Given the description of an element on the screen output the (x, y) to click on. 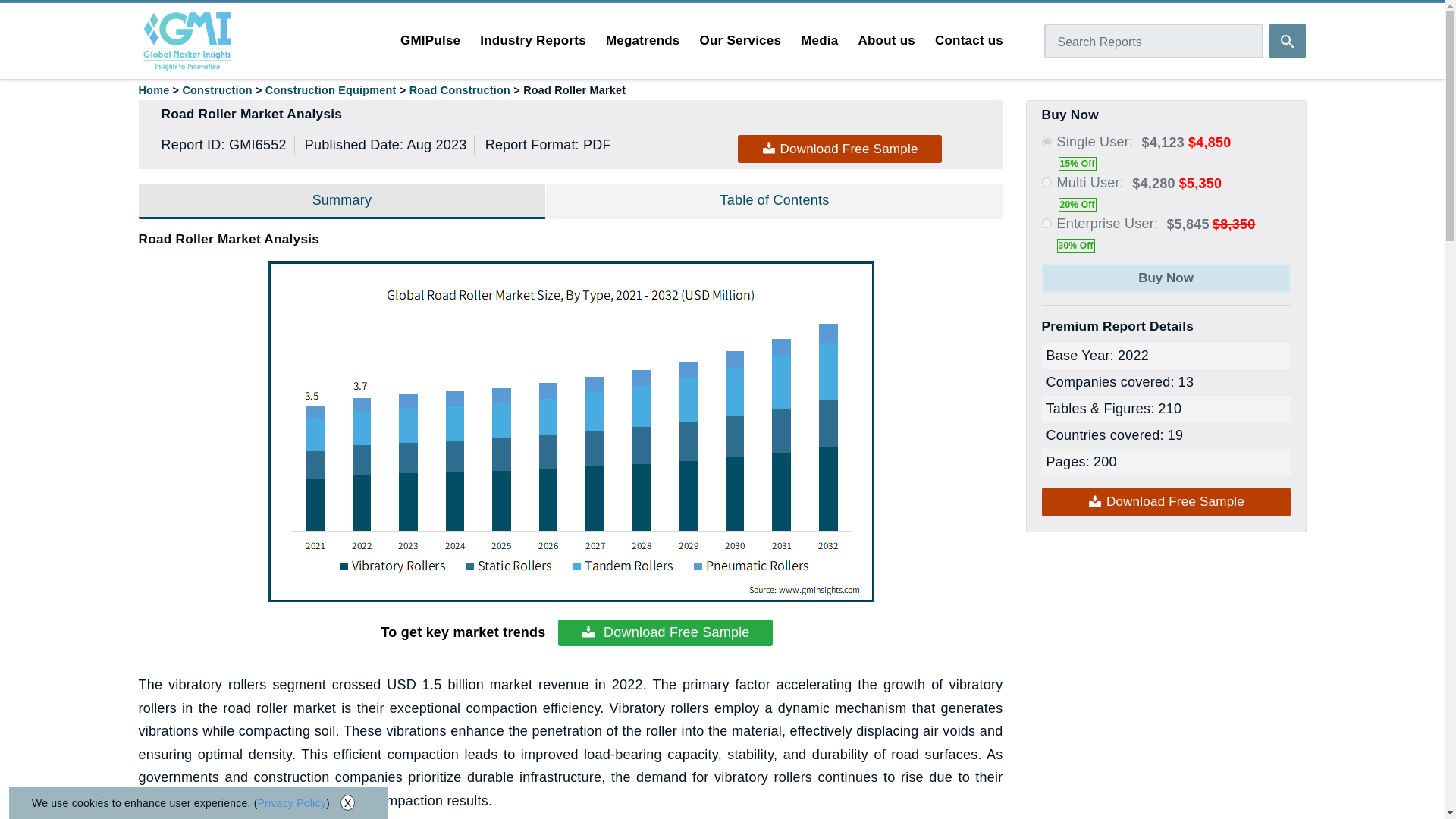
sugmp (1046, 141)
Logo (187, 40)
mugmp (1046, 182)
eugmp (1046, 223)
